Given the description of an element on the screen output the (x, y) to click on. 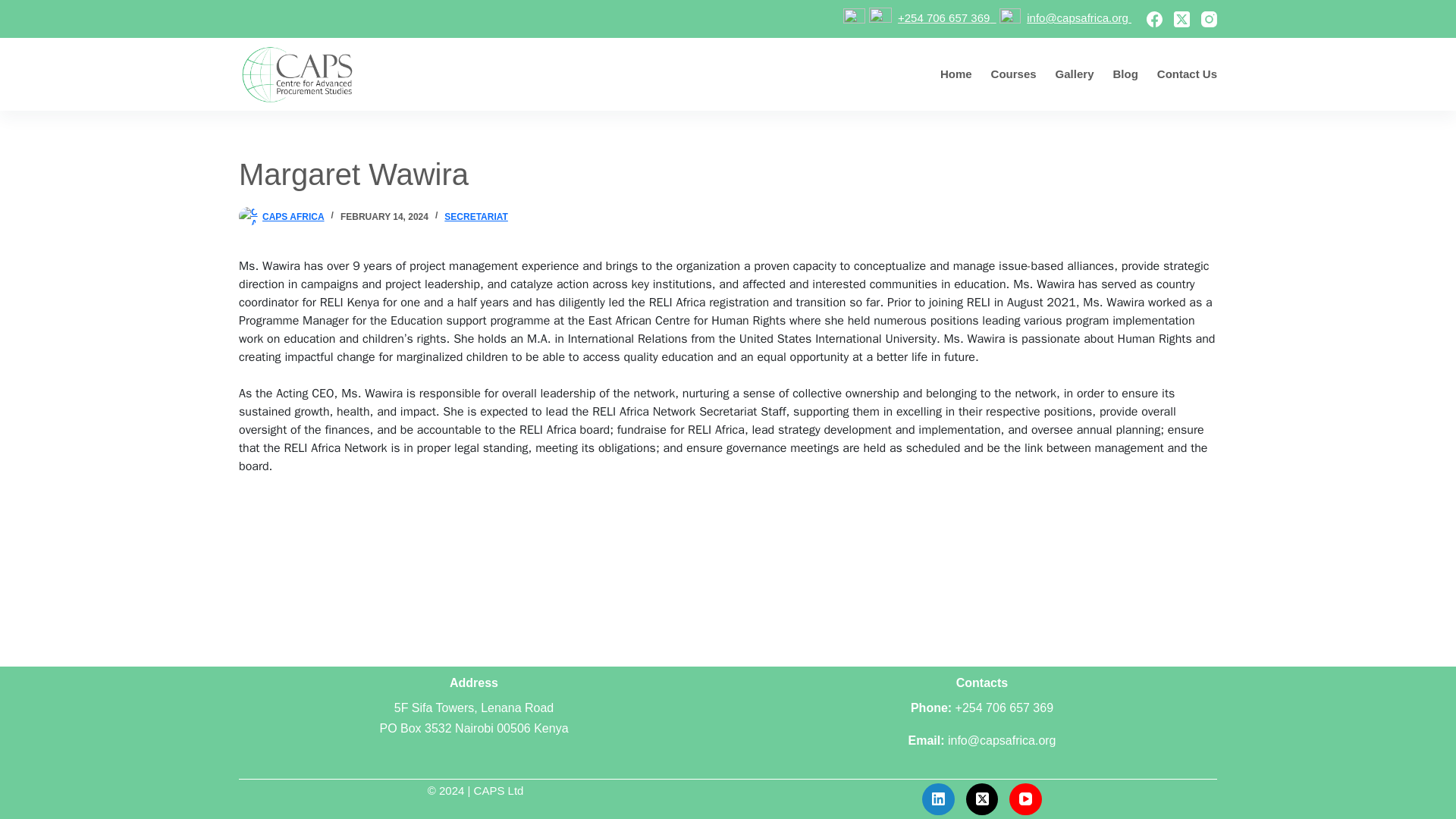
Skip to content (15, 7)
CAPS AFRICA (293, 216)
Posts by CAPS AFRICA (293, 216)
Margaret Wawira (727, 174)
Contact Us (1182, 73)
SECRETARIAT (476, 216)
